Given the description of an element on the screen output the (x, y) to click on. 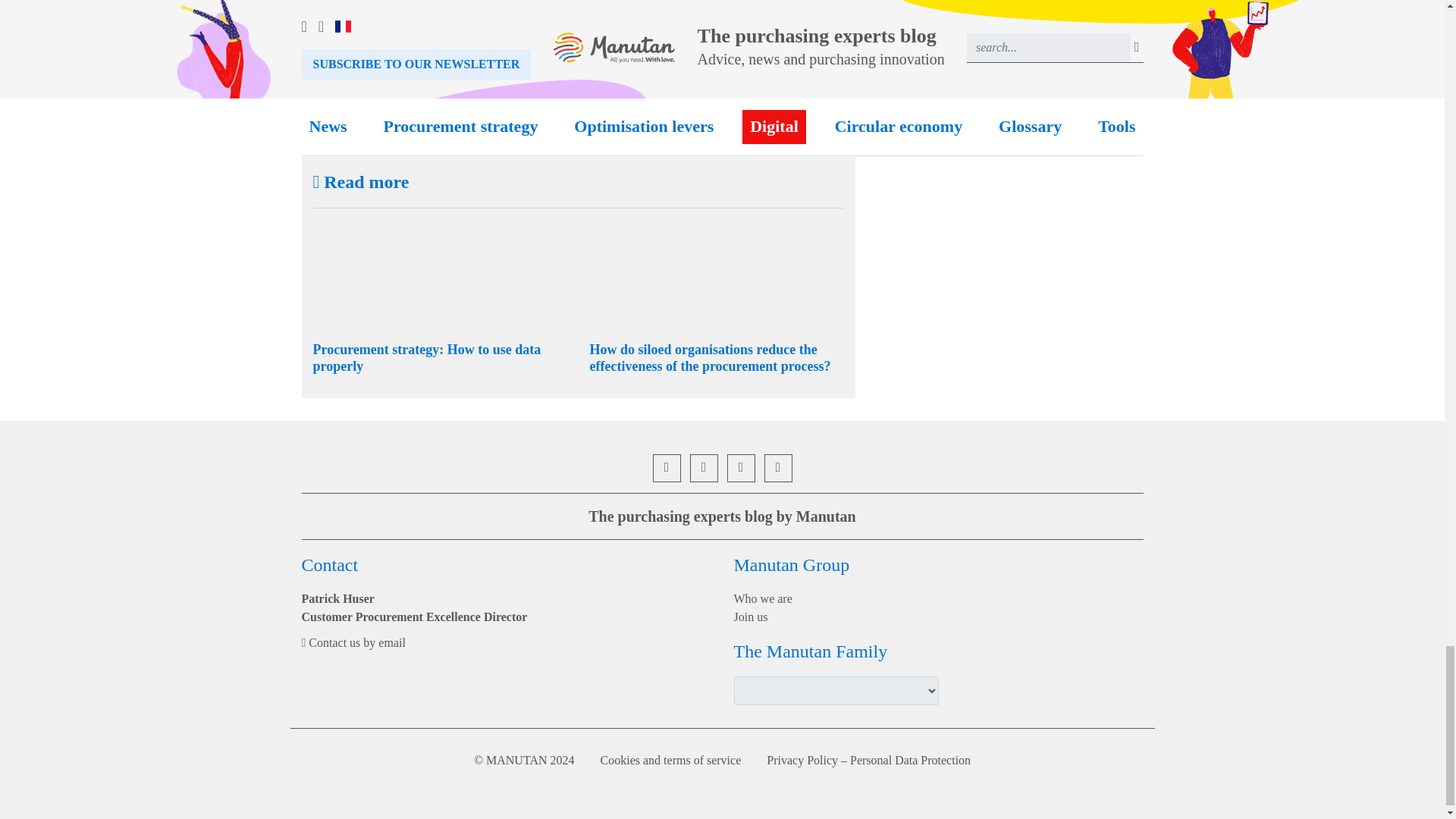
Two approaches to digitalising purchasing departments (546, 48)
Procurement strategy: How to use data properly (426, 357)
